Given the description of an element on the screen output the (x, y) to click on. 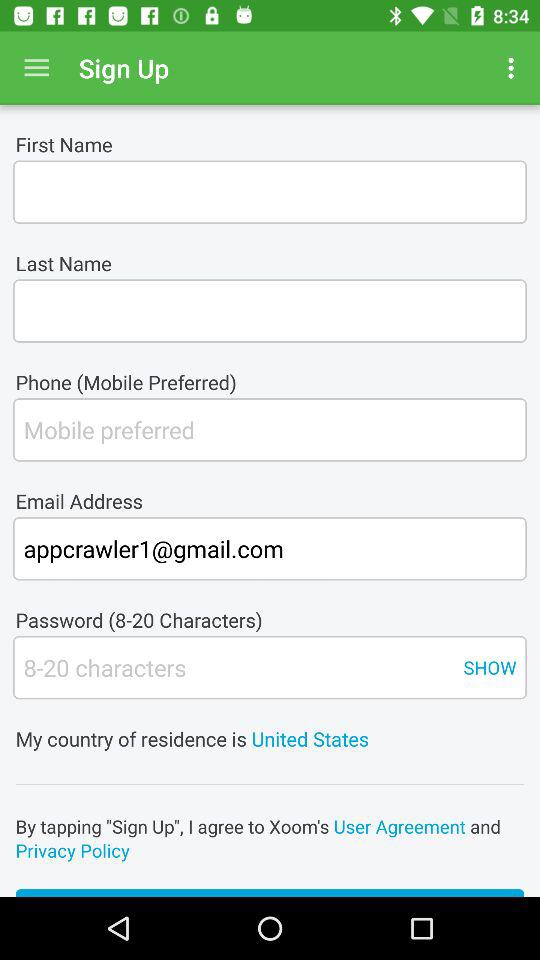
select the by tapping sign (269, 838)
